Given the description of an element on the screen output the (x, y) to click on. 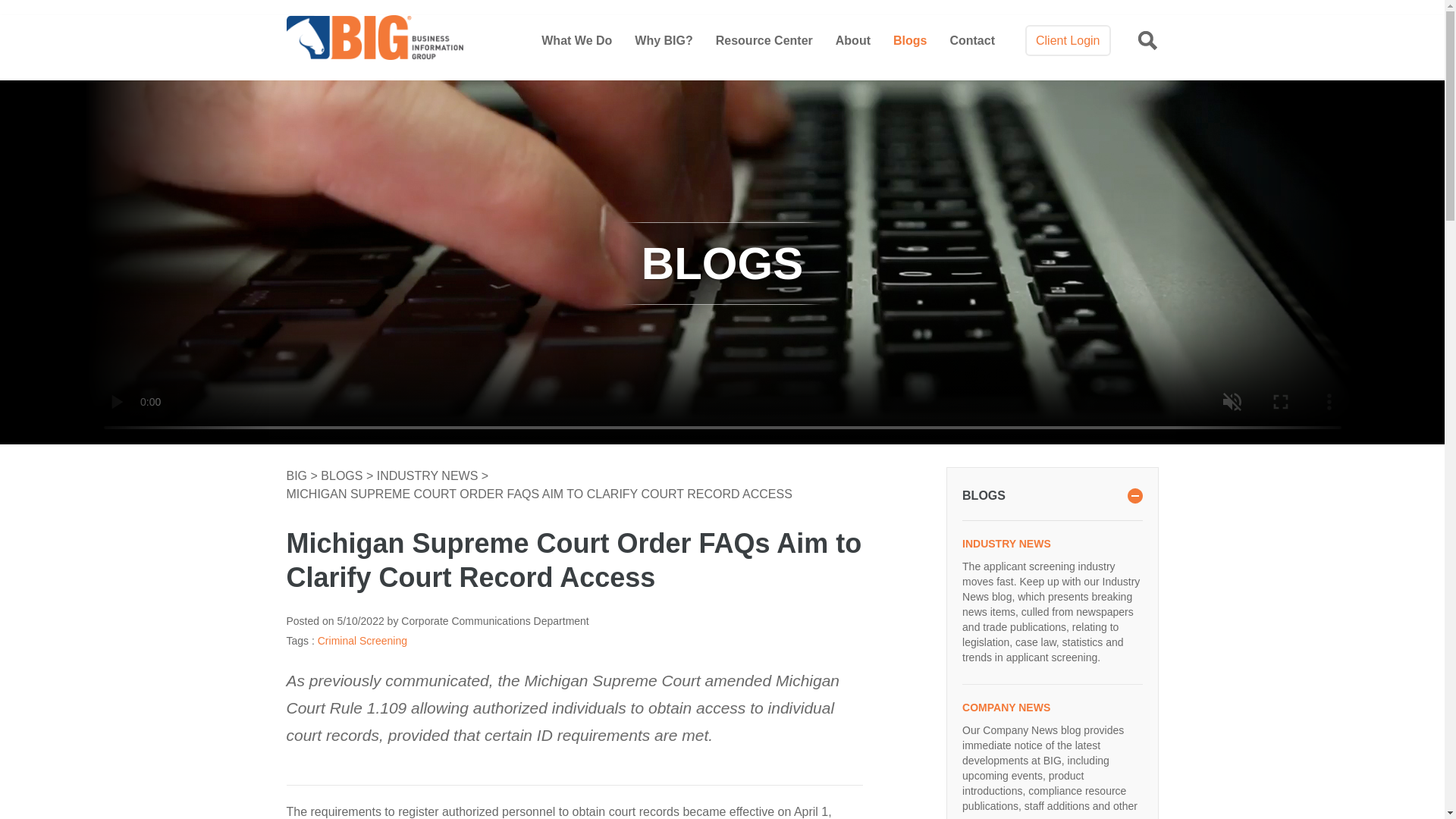
COMPANY NEWS (1051, 707)
BLOGS (343, 475)
INDUSTRY NEWS (429, 475)
BLOGS (1051, 495)
Resource Center (764, 40)
Client Login (1067, 40)
Blogs (909, 40)
About (852, 40)
What We Do (576, 40)
Contact (971, 40)
INDUSTRY NEWS (1051, 543)
Search (991, 113)
Why BIG? (663, 40)
BIG (298, 475)
